Given the description of an element on the screen output the (x, y) to click on. 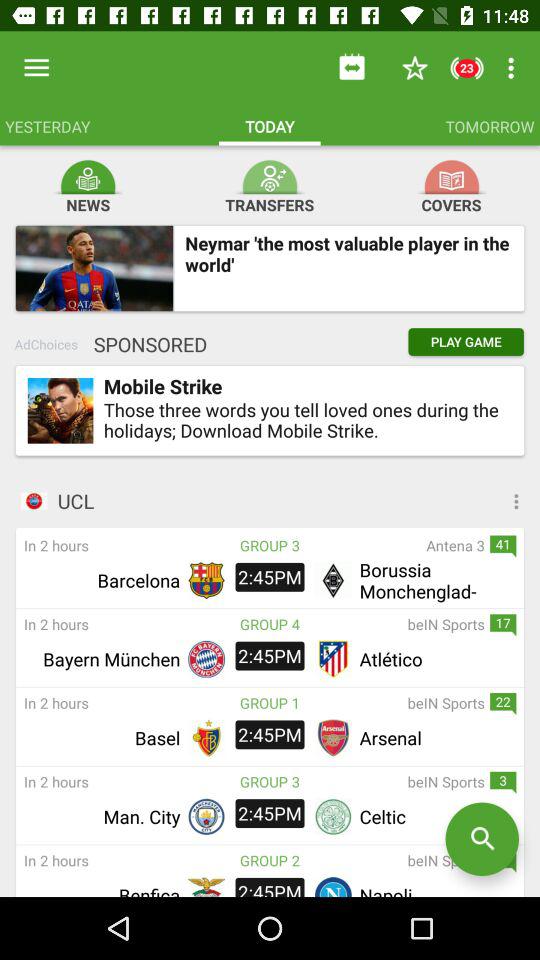
open play game icon (465, 341)
